Given the description of an element on the screen output the (x, y) to click on. 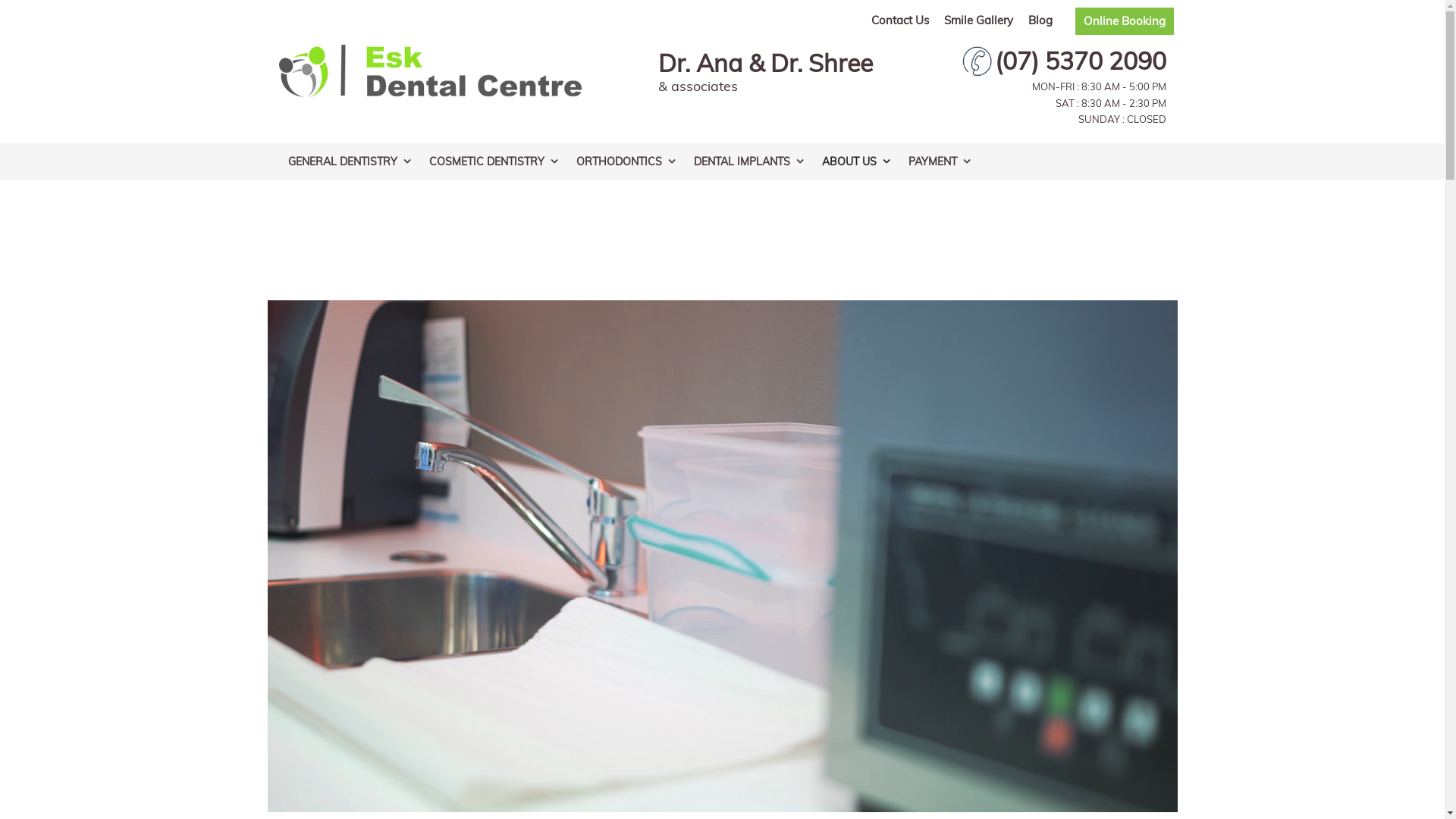
COSMETIC DENTISTRY Element type: text (493, 160)
Smile Gallery Element type: text (977, 20)
GENERAL DENTISTRY Element type: text (349, 160)
(07) 5370 2090 Element type: text (1061, 60)
ABOUT US Element type: text (855, 160)
ORTHODONTICS Element type: text (625, 160)
Contact Us Element type: text (898, 20)
Online Booking Element type: text (1124, 20)
Blog Element type: text (1040, 20)
DENTAL IMPLANTS Element type: text (748, 160)
PAYMENT Element type: text (939, 160)
